Given the description of an element on the screen output the (x, y) to click on. 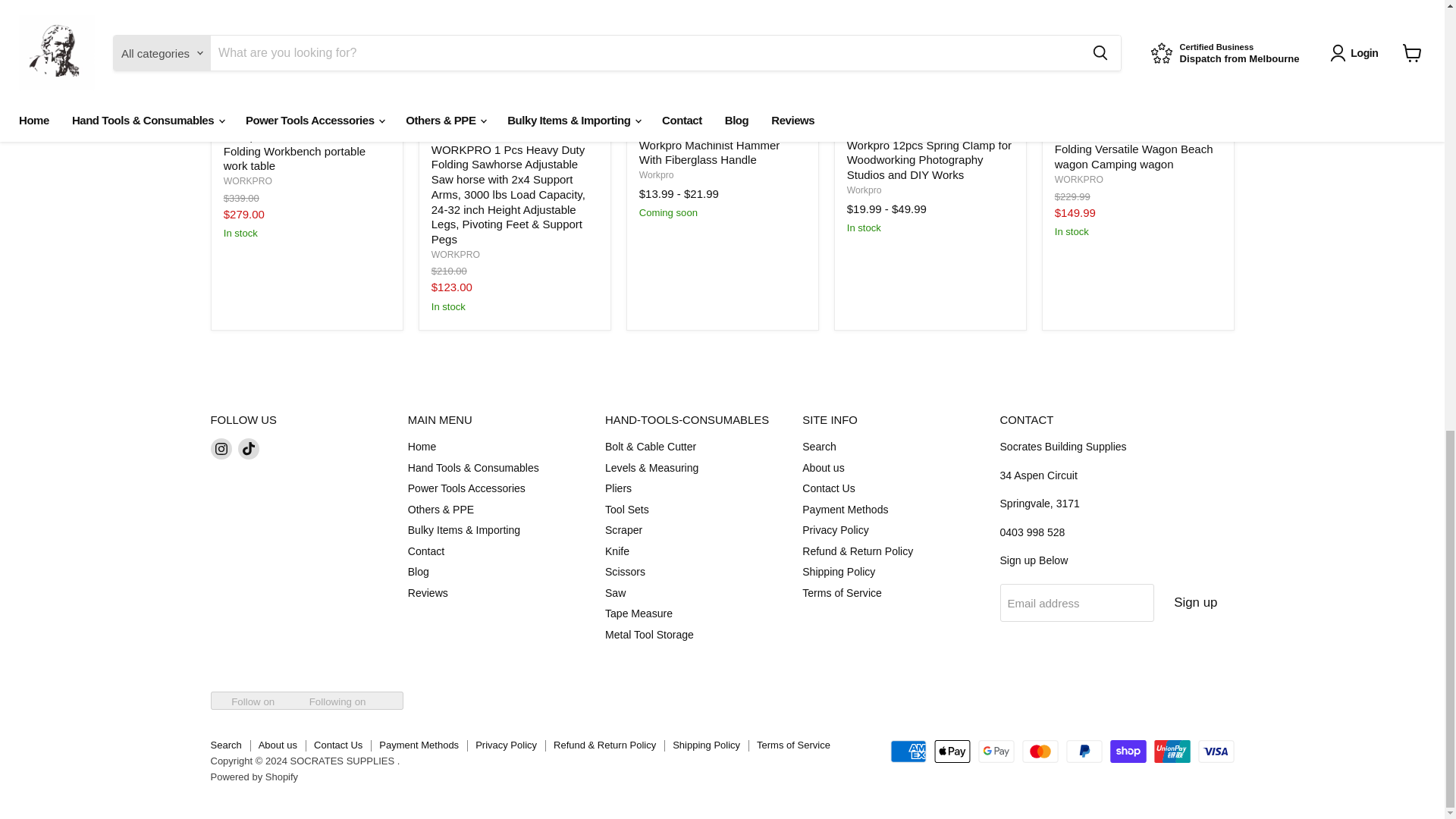
Workpro (864, 190)
Instagram (221, 448)
WORKPRO (248, 181)
Workpro (656, 174)
WORKPRO (1078, 179)
WORKPRO (455, 254)
TikTok (248, 448)
